Given the description of an element on the screen output the (x, y) to click on. 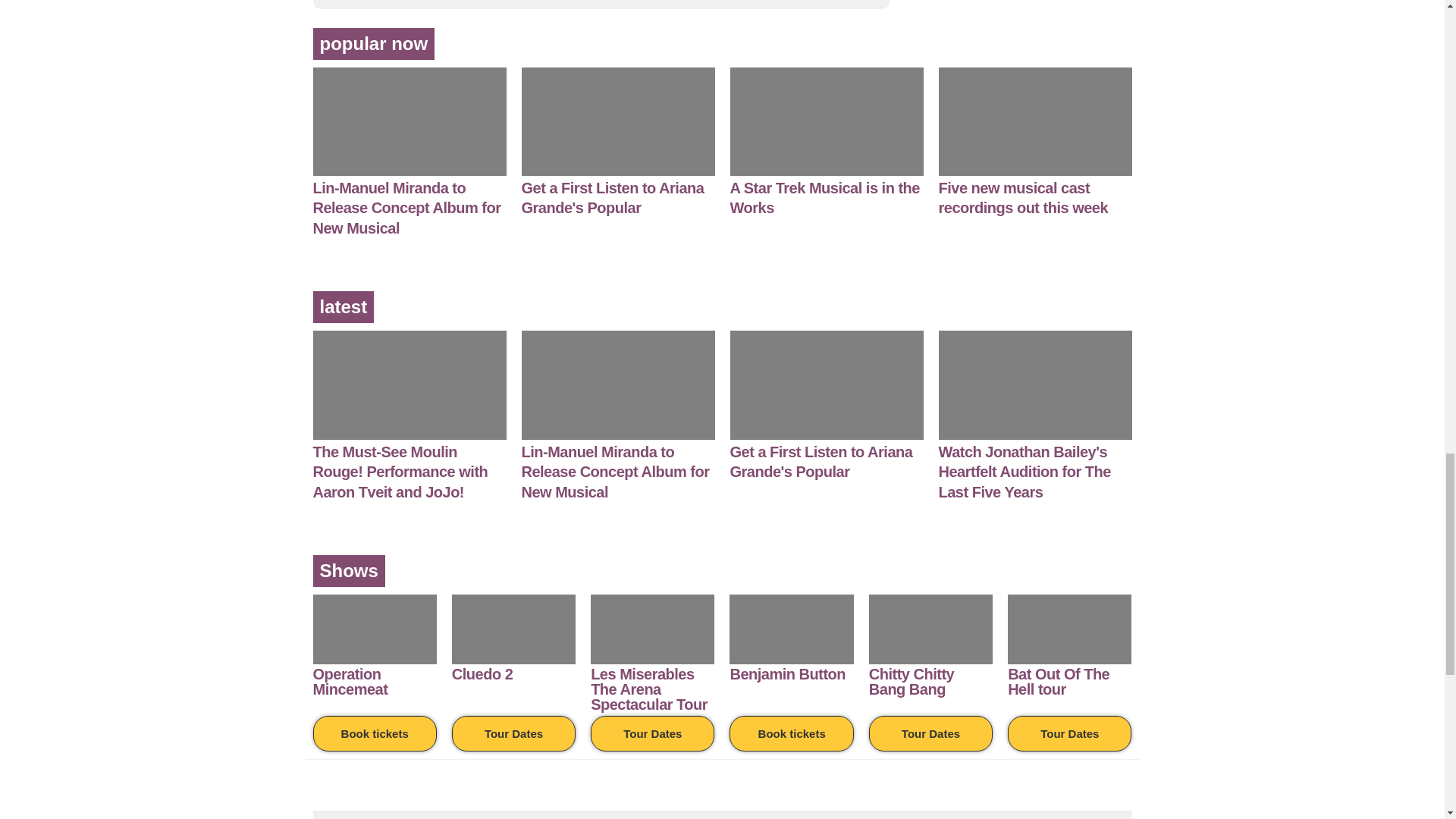
A Star Trek Musical is in the Works (823, 198)
Lin-Manuel Miranda to Release Concept Album for New Musical (406, 207)
Get a First Listen to Ariana Grande's Popular (612, 198)
